Given the description of an element on the screen output the (x, y) to click on. 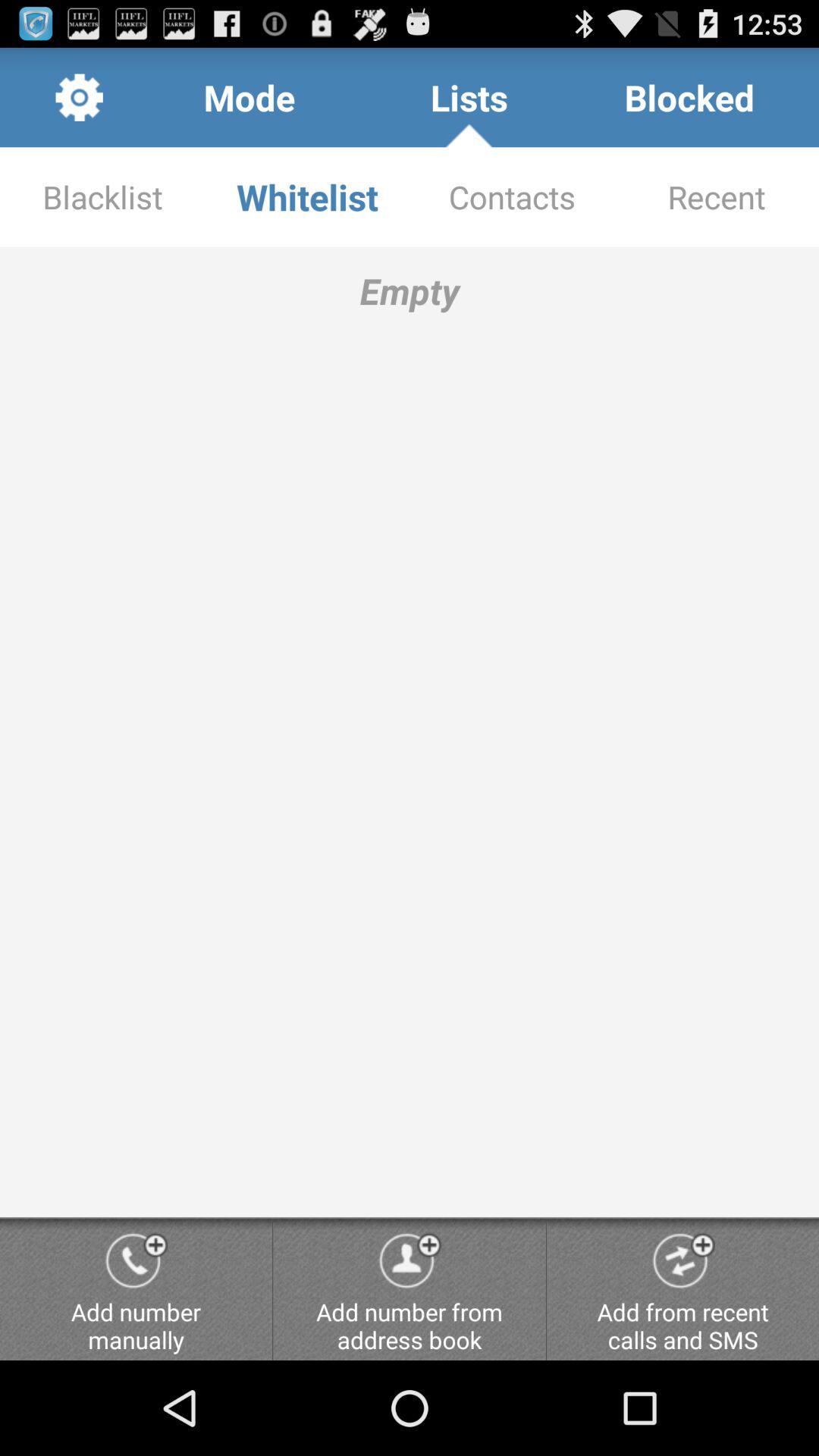
swipe to mode app (249, 97)
